Given the description of an element on the screen output the (x, y) to click on. 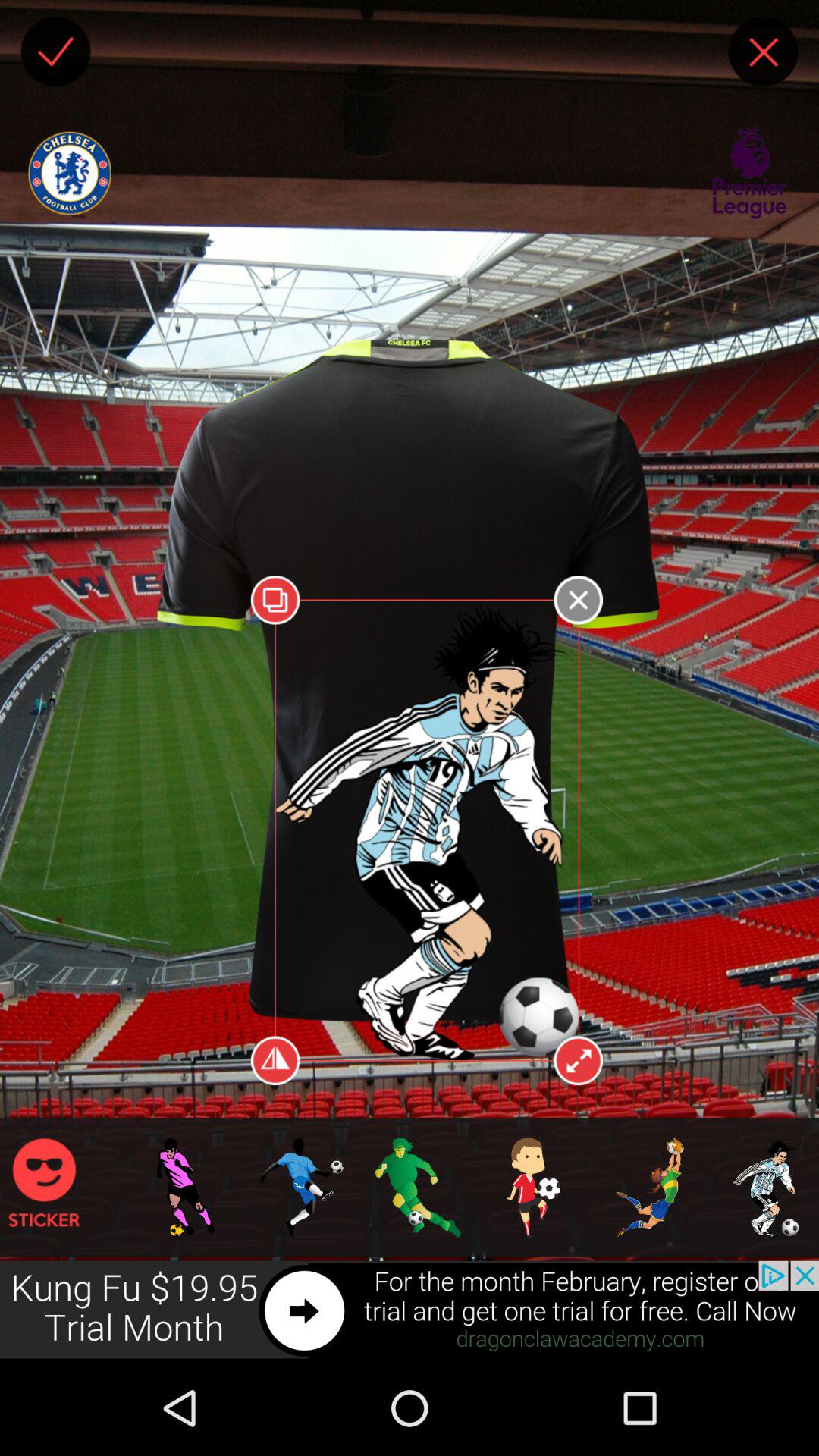
add item (55, 51)
